Given the description of an element on the screen output the (x, y) to click on. 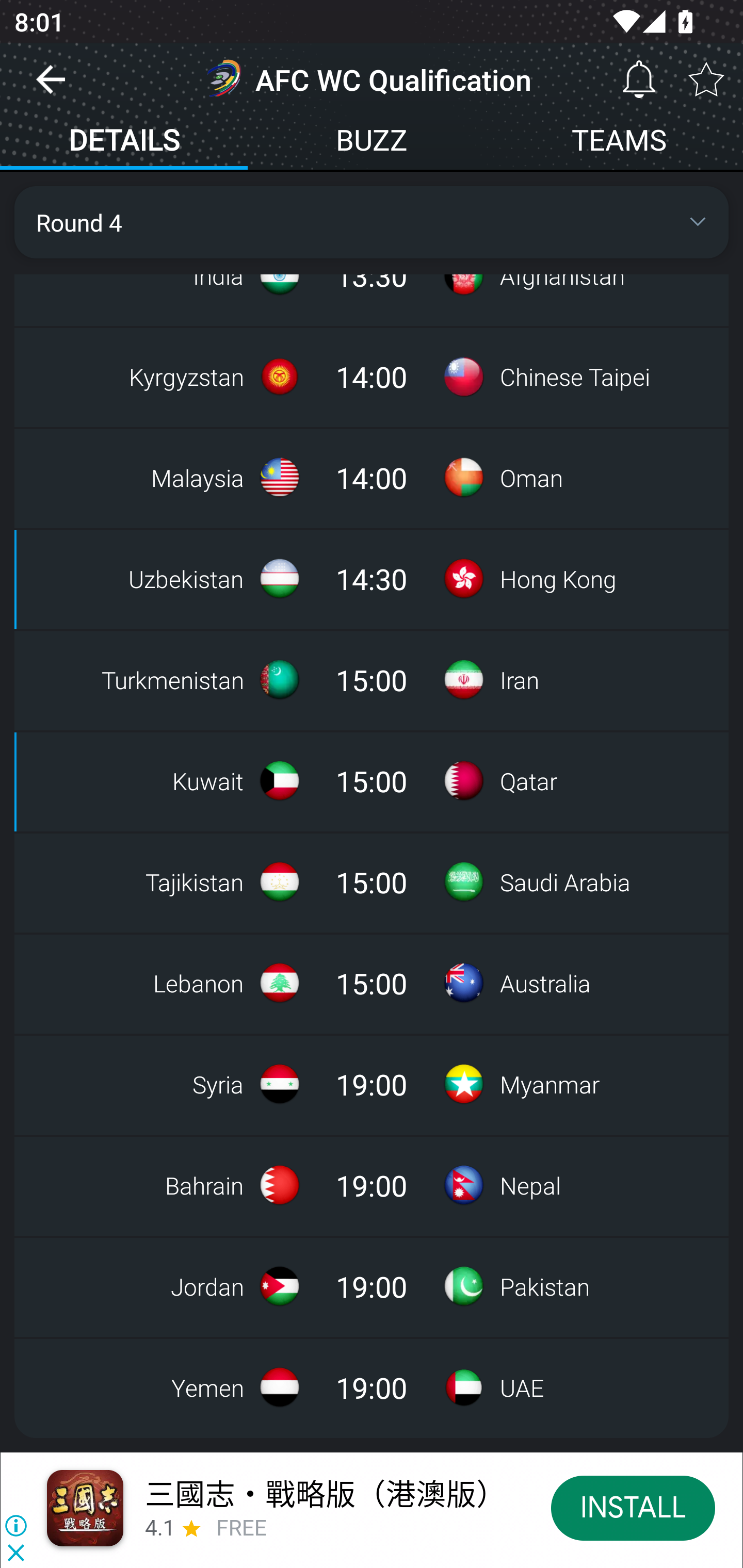
Navigate up (50, 86)
DETAILS (123, 142)
BUZZ (371, 142)
TEAMS (619, 142)
Round 4 (371, 222)
Kyrgyzstan 14:00 Chinese Taipei (371, 376)
Malaysia 14:00 Oman (371, 477)
Uzbekistan 14:30 Hong Kong (371, 578)
Turkmenistan 15:00 Iran (371, 679)
Kuwait 15:00 Qatar (371, 780)
Tajikistan 15:00 Saudi Arabia (371, 881)
Lebanon 15:00 Australia (371, 982)
Syria 19:00 Myanmar (371, 1084)
Bahrain 19:00 Nepal (371, 1185)
Jordan 19:00 Pakistan (371, 1286)
Yemen 19:00 UAE (371, 1387)
三國志・戰略版（港澳版） (324, 1493)
INSTALL (632, 1507)
